Given the description of an element on the screen output the (x, y) to click on. 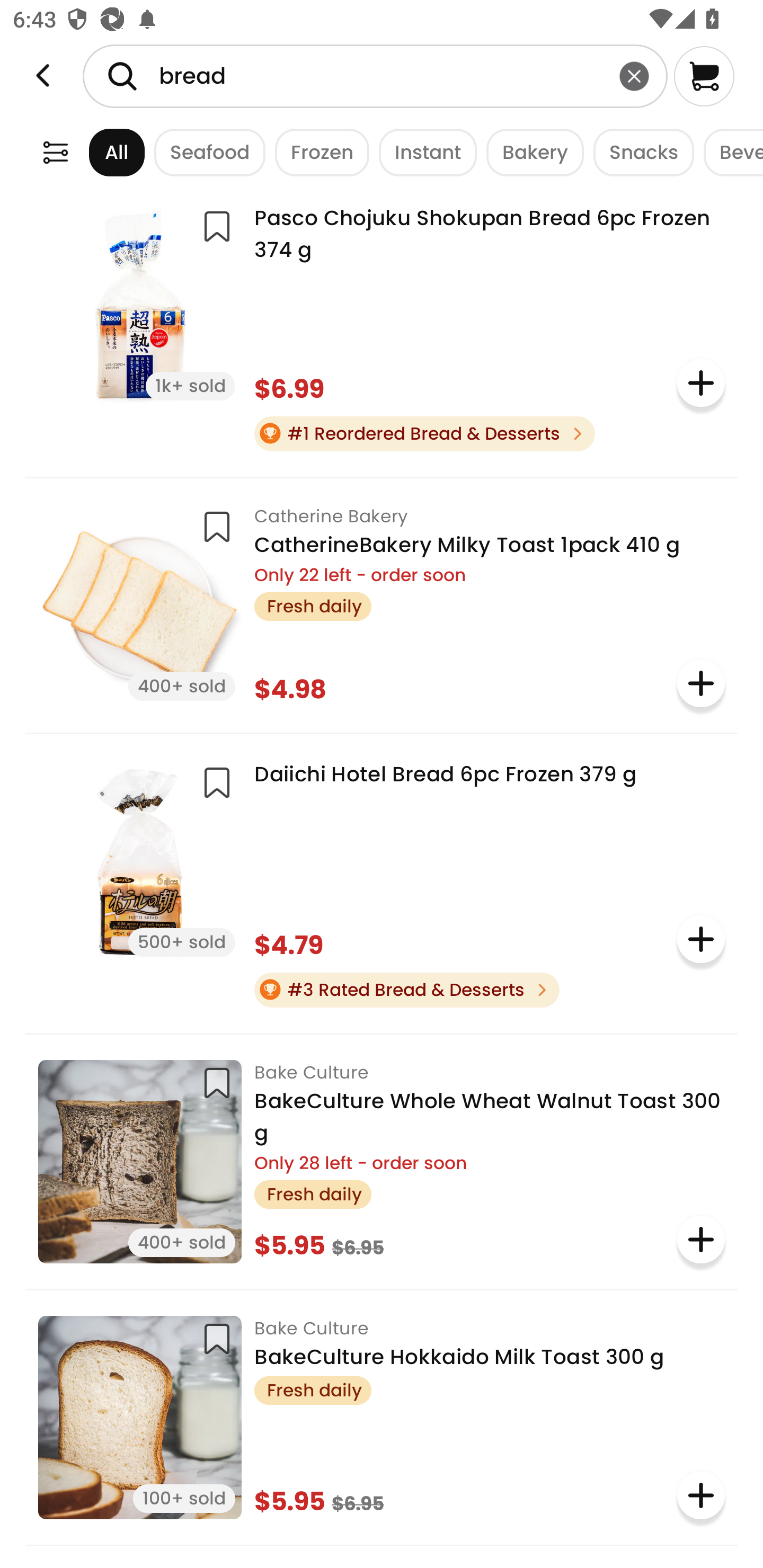
bread (374, 75)
Weee! (42, 76)
Weee! (55, 151)
All (99, 151)
Seafood (204, 151)
Frozen (317, 151)
Instant (422, 151)
Bakery (529, 151)
Snacks (638, 151)
